Given the description of an element on the screen output the (x, y) to click on. 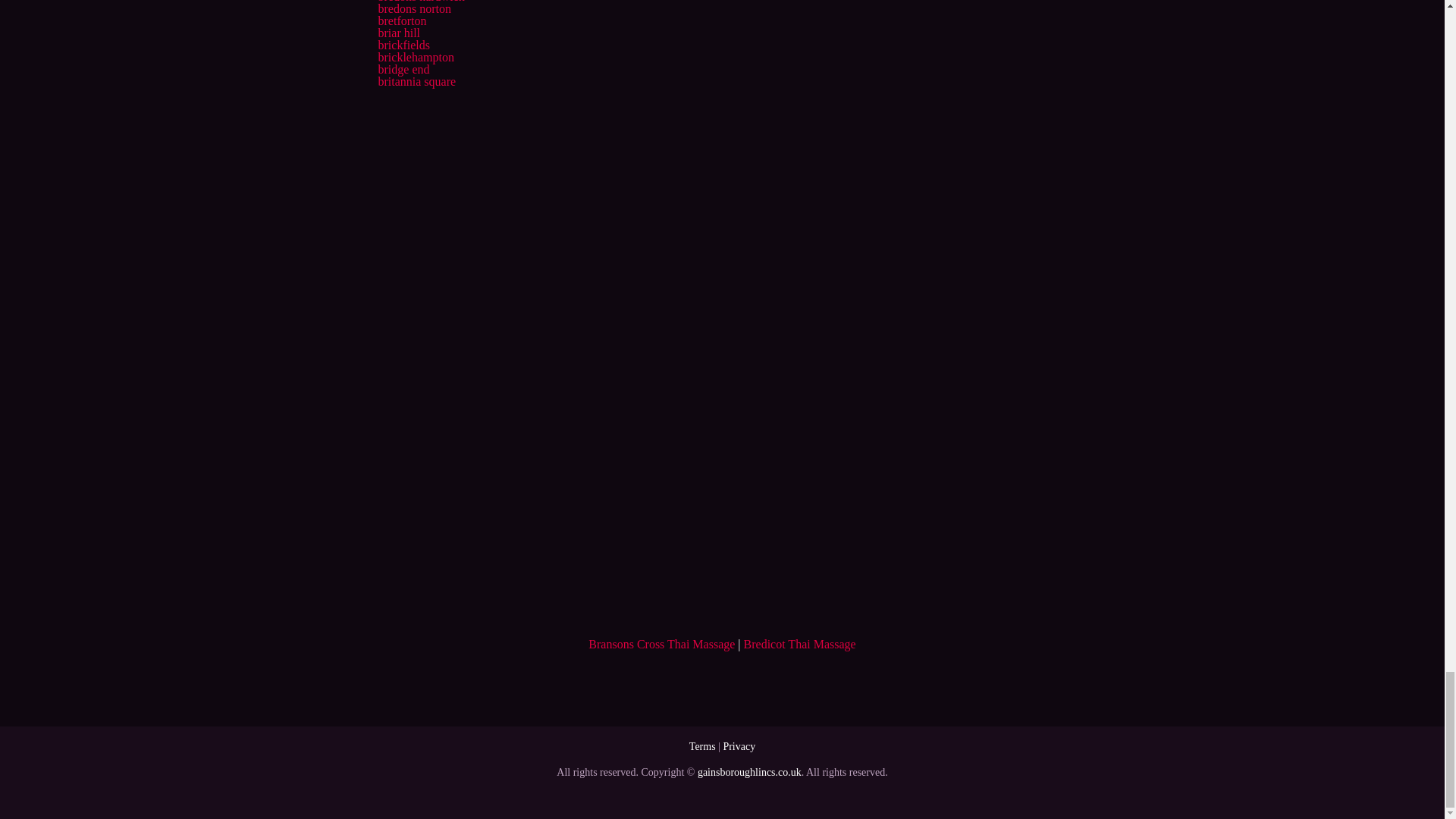
Privacy (738, 746)
Privacy (738, 746)
bricklehampton (414, 56)
Bredicot Thai Massage (800, 644)
britannia square (416, 81)
Terms (702, 746)
bretforton (401, 20)
gainsboroughlincs.co.uk (749, 772)
briar hill (398, 32)
bredons hardwick (420, 1)
